Given the description of an element on the screen output the (x, y) to click on. 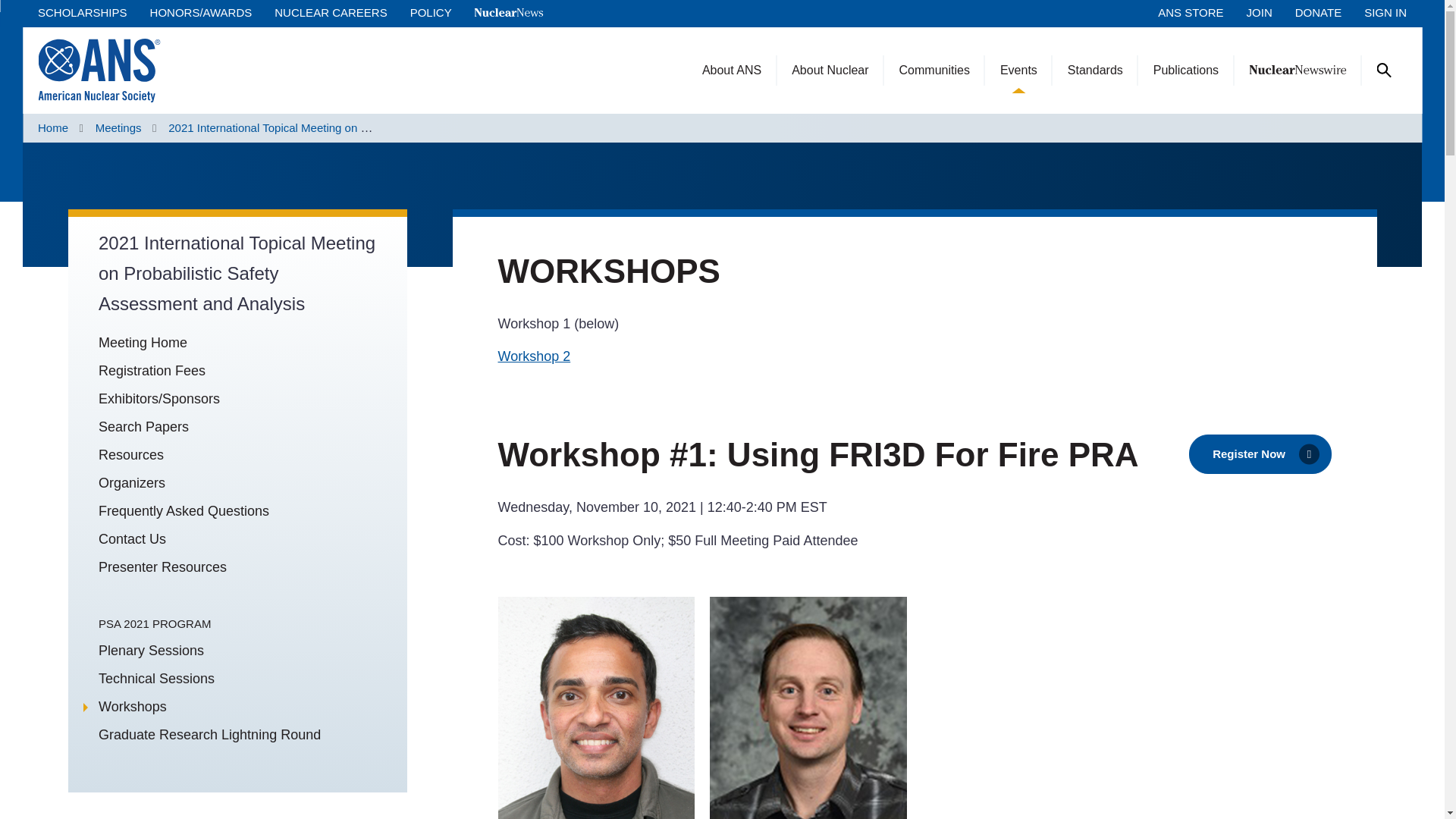
Communities (934, 70)
NUCLEAR CAREERS (331, 11)
About ANS (731, 70)
SCHOLARSHIPS (82, 11)
SIGN IN (1385, 11)
About Nuclear (829, 70)
DONATE (1317, 11)
POLICY (430, 11)
ANS STORE (1190, 11)
JOIN (1259, 11)
